Given the description of an element on the screen output the (x, y) to click on. 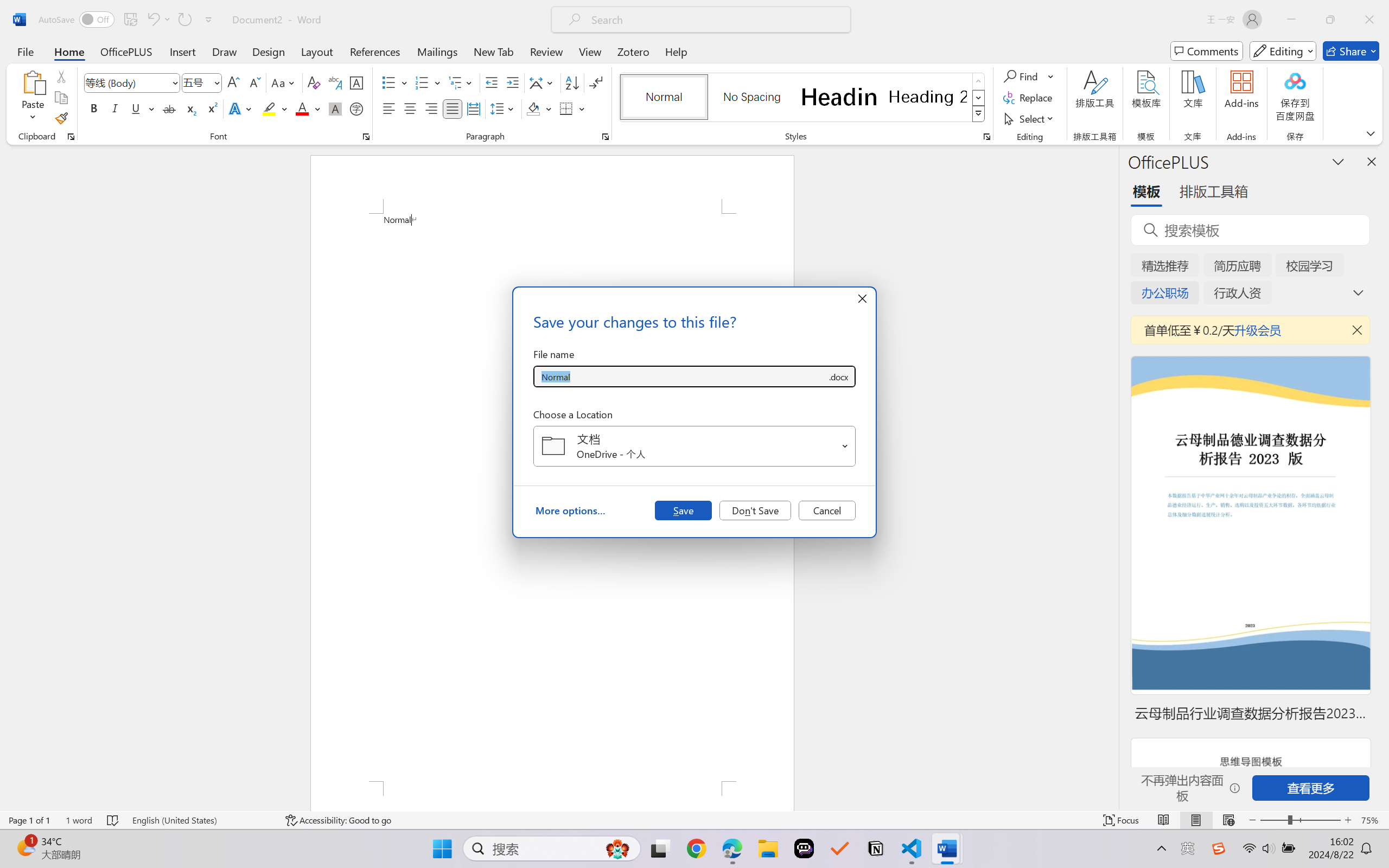
Share (1350, 51)
Word Count 1 word (78, 819)
Row Down (978, 97)
Poe (804, 848)
Ribbon Display Options (1370, 132)
AutomationID: QuickStylesGallery (802, 97)
Copy (60, 97)
File Tab (24, 51)
Layout (316, 51)
Format Painter (60, 118)
Save (682, 509)
Shrink Font (253, 82)
